Given the description of an element on the screen output the (x, y) to click on. 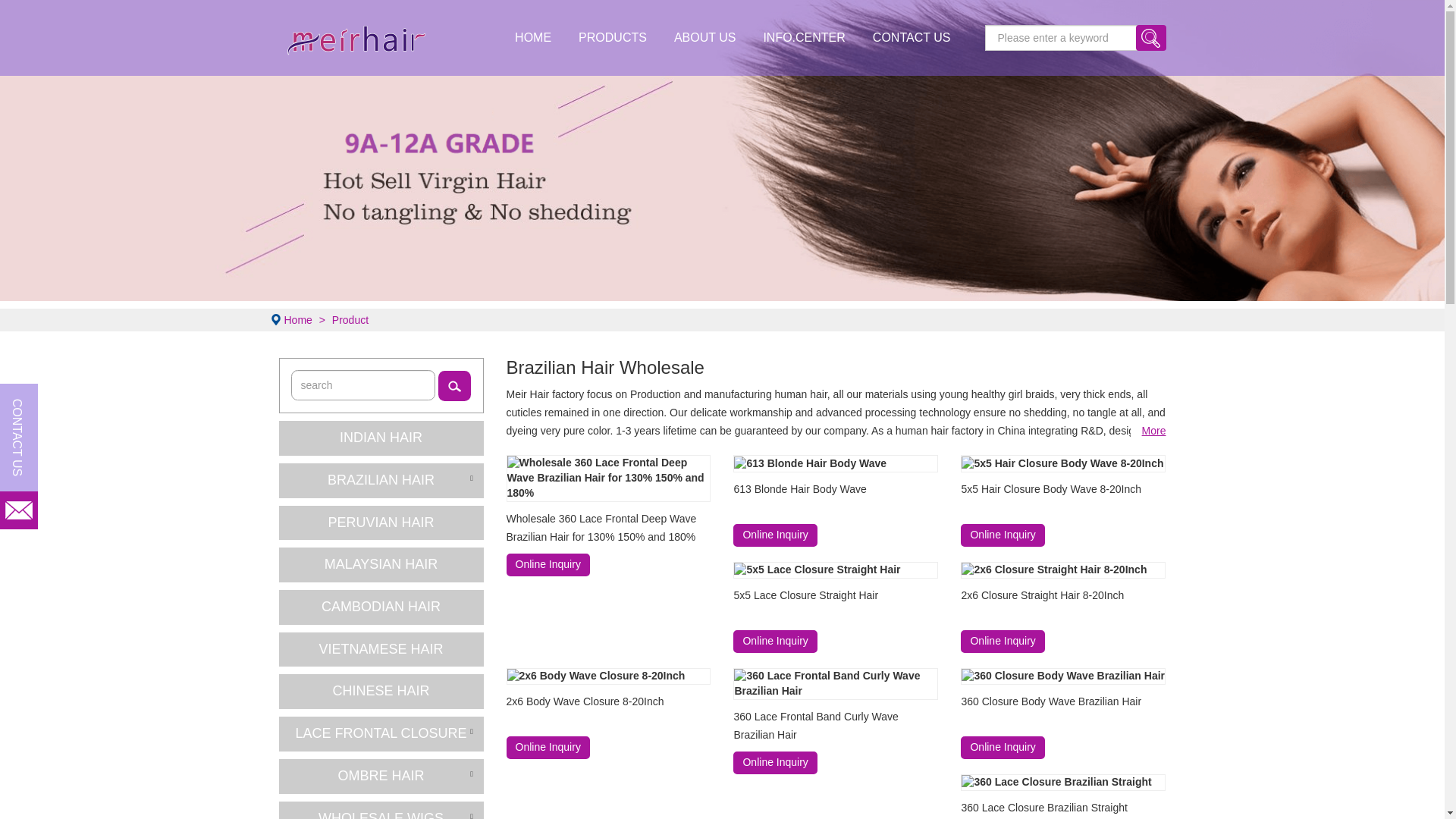
HOME (532, 37)
PRODUCTS (612, 37)
HOME (532, 37)
PRODUCTS (612, 37)
